Given the description of an element on the screen output the (x, y) to click on. 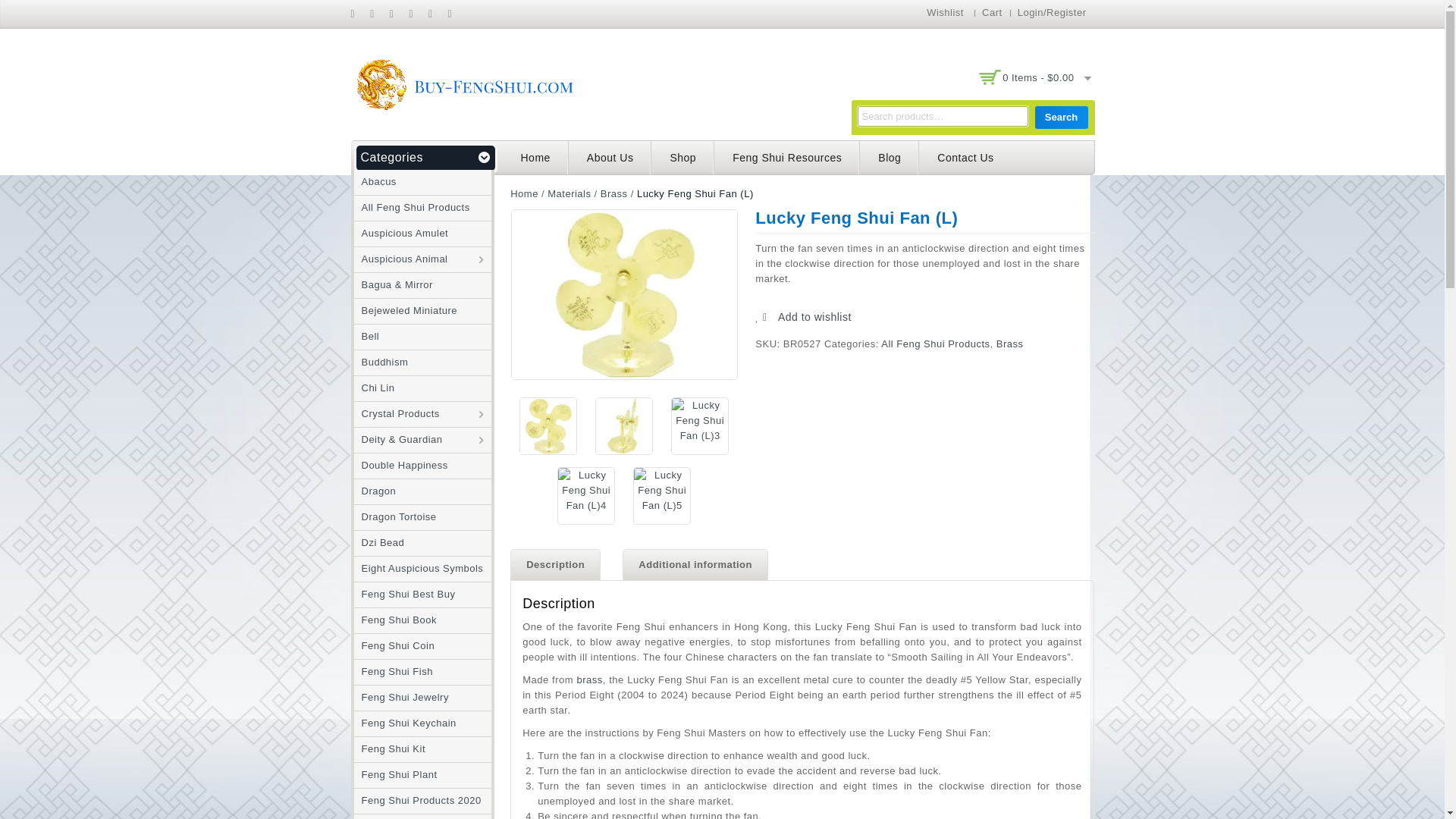
Auspicious Animal (399, 258)
Abacus (374, 181)
Cart (992, 12)
All Feng Shui Products (410, 206)
Buddhism (380, 361)
Auspicious Amulet (400, 233)
Wishlist (944, 12)
View your shopping cart (1038, 77)
Buy-FengShui.com (464, 83)
Bell (365, 336)
Chi Lin (373, 387)
View your shopping cart (1034, 78)
Search (1060, 117)
Bejeweled Miniature (405, 310)
